Given the description of an element on the screen output the (x, y) to click on. 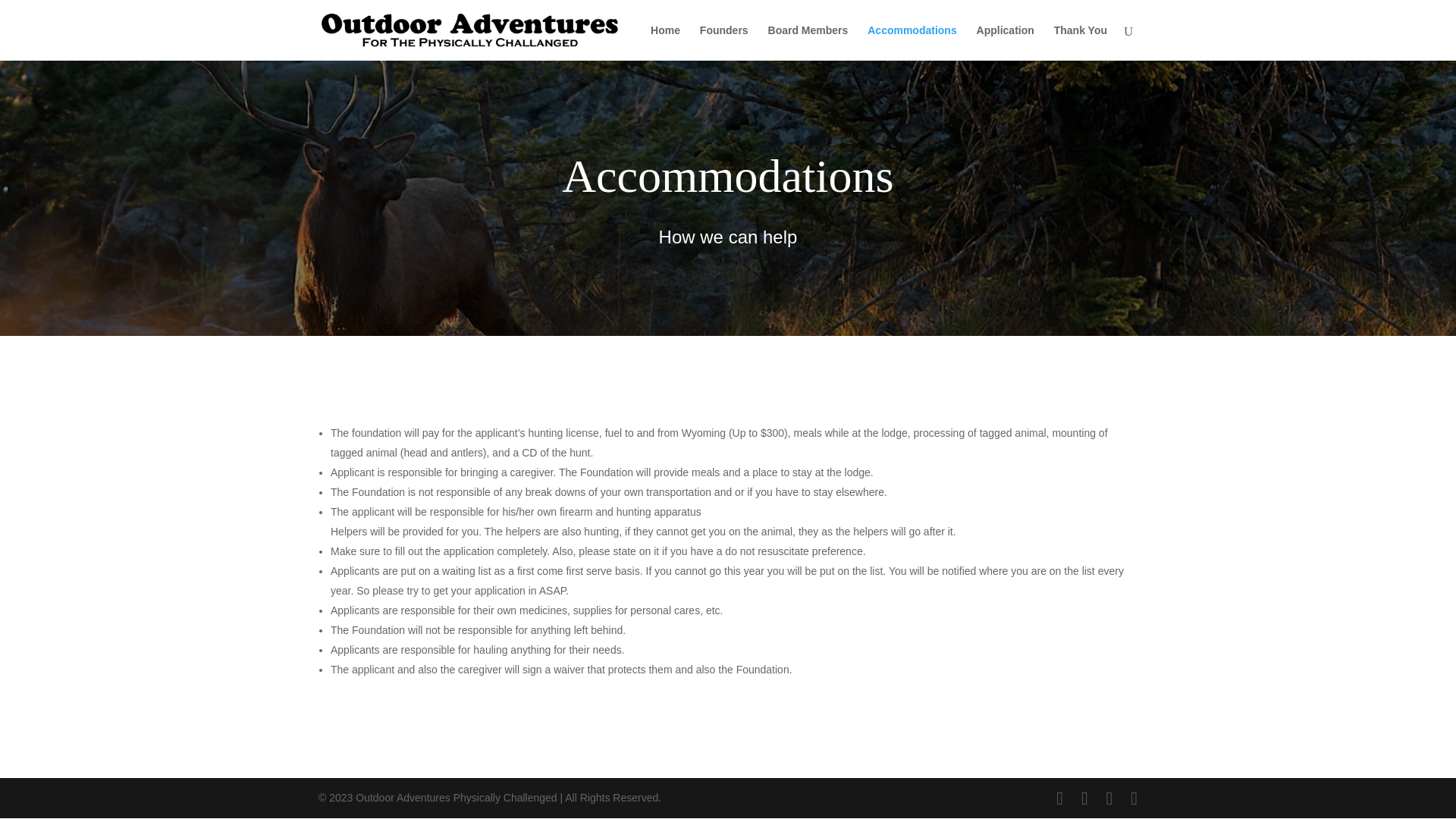
Founders (724, 42)
Home (664, 42)
Application (1004, 42)
Accommodations (911, 42)
Board Members (808, 42)
Thank You (1080, 42)
